Given the description of an element on the screen output the (x, y) to click on. 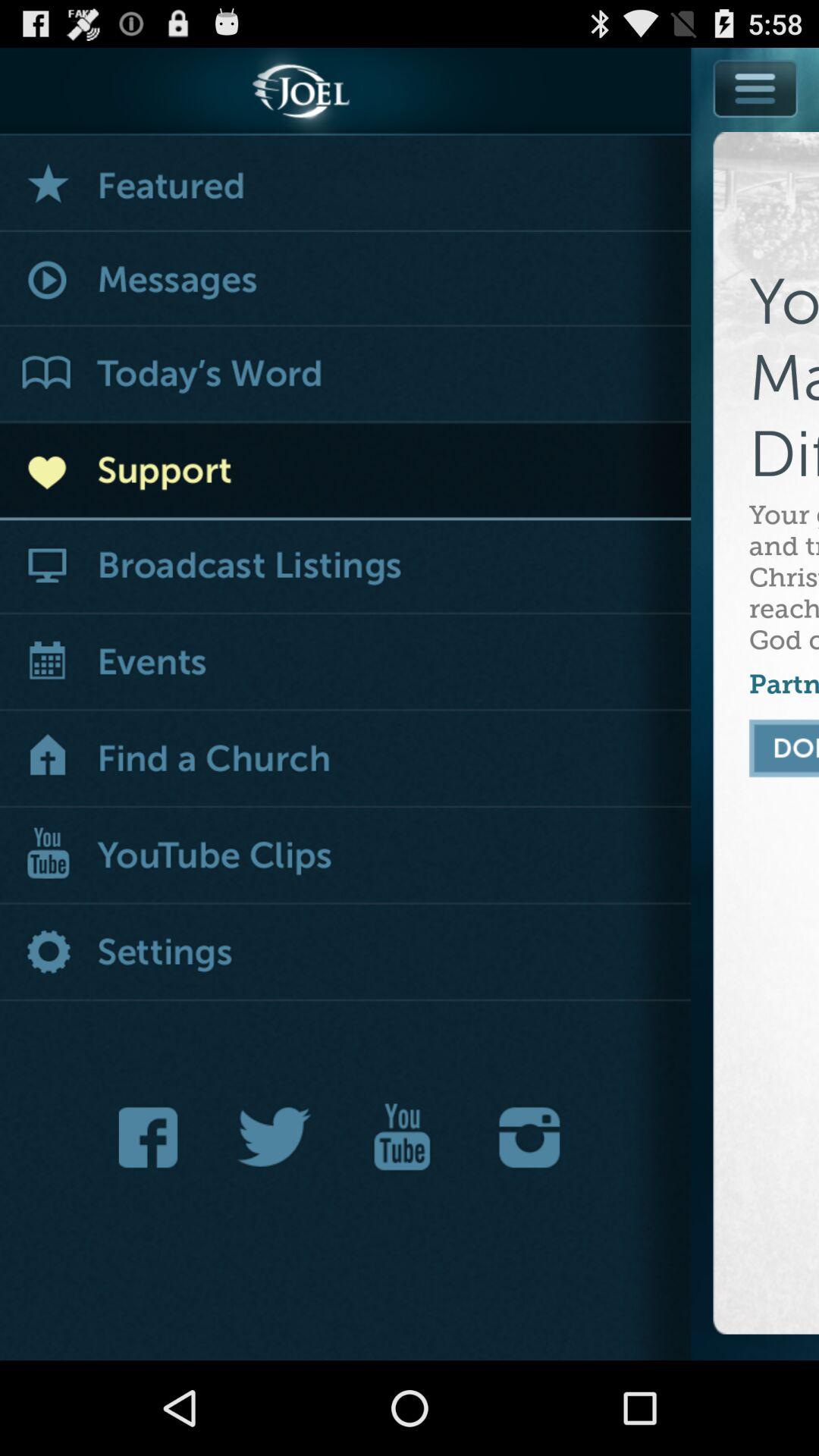
turn on app next to the your gift helps icon (345, 663)
